Given the description of an element on the screen output the (x, y) to click on. 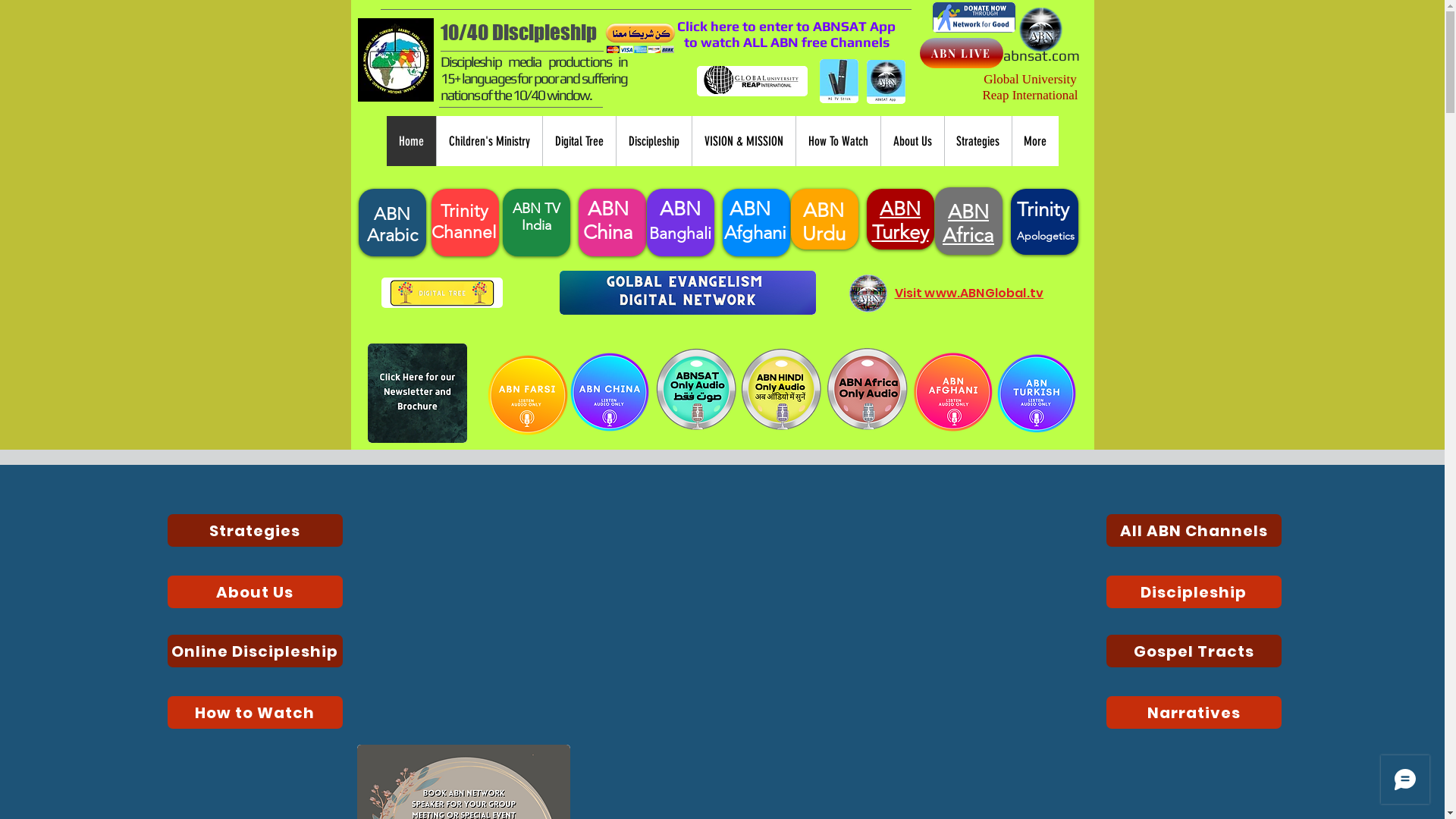
ABN China Element type: text (608, 220)
Strategies Element type: text (976, 141)
VISION & MISSION Element type: text (743, 141)
ABN Urdu Element type: text (823, 221)
ABN Banghali Element type: text (680, 220)
All ABN Channels Element type: text (1192, 530)
Gospel Tracts Element type: text (1192, 650)
ABN_LOGO (1).png Element type: hover (867, 292)
abnsat.com Element type: text (1040, 55)
Home Element type: text (411, 141)
Digital Tree Element type: text (578, 141)
Discipleship Element type: text (1192, 591)
Children's Ministry Element type: text (488, 141)
ABN Farsi audio.png Element type: hover (526, 393)
Trinity Apologetics Element type: text (1045, 220)
Online Discipleship Element type: text (254, 650)
Discipleship Element type: text (653, 141)
ABN Arabic Element type: text (392, 223)
ABN   Afghani Element type: text (752, 220)
ABN Turkey Element type: text (900, 220)
About Us Element type: text (911, 141)
ABN TV India Element type: text (536, 216)
Strategies Element type: text (254, 530)
ABN Afghani audio.png Element type: hover (952, 391)
ABN
Africa Element type: text (968, 223)
About Us Element type: text (254, 591)
Trinity Channel Element type: text (463, 220)
ABN Turkey audio.png Element type: hover (1036, 391)
How To Watch Element type: text (836, 141)
ABN China audio.png Element type: hover (608, 391)
Narratives Element type: text (1192, 712)
Visit www.ABNGlobal.tv Element type: text (969, 292)
How to Watch Element type: text (254, 712)
ABN LIVE Element type: text (960, 52)
